Given the description of an element on the screen output the (x, y) to click on. 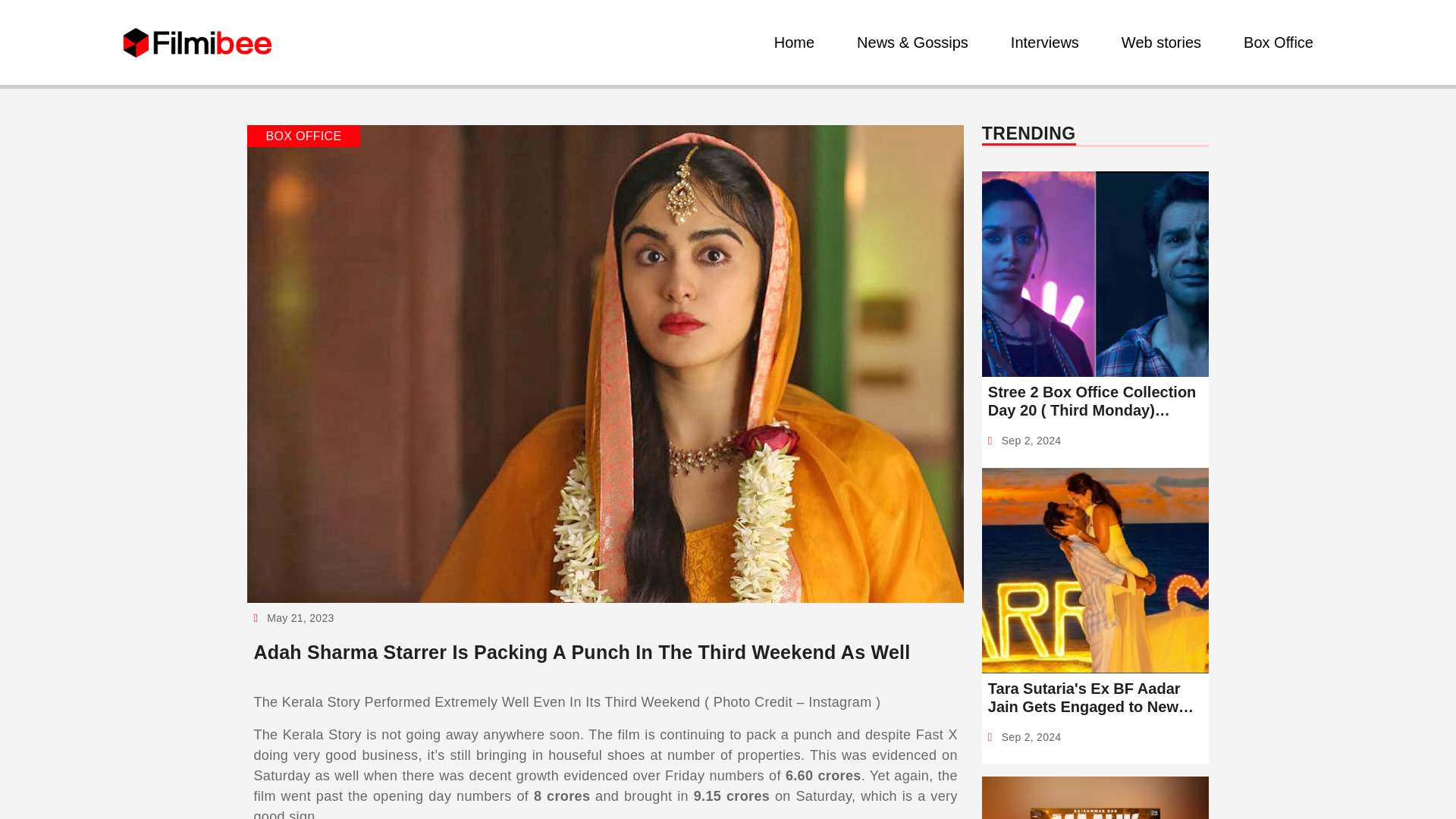
Box Office (1278, 42)
Home (794, 42)
Web stories (1161, 42)
Interviews (1044, 42)
